Given the description of an element on the screen output the (x, y) to click on. 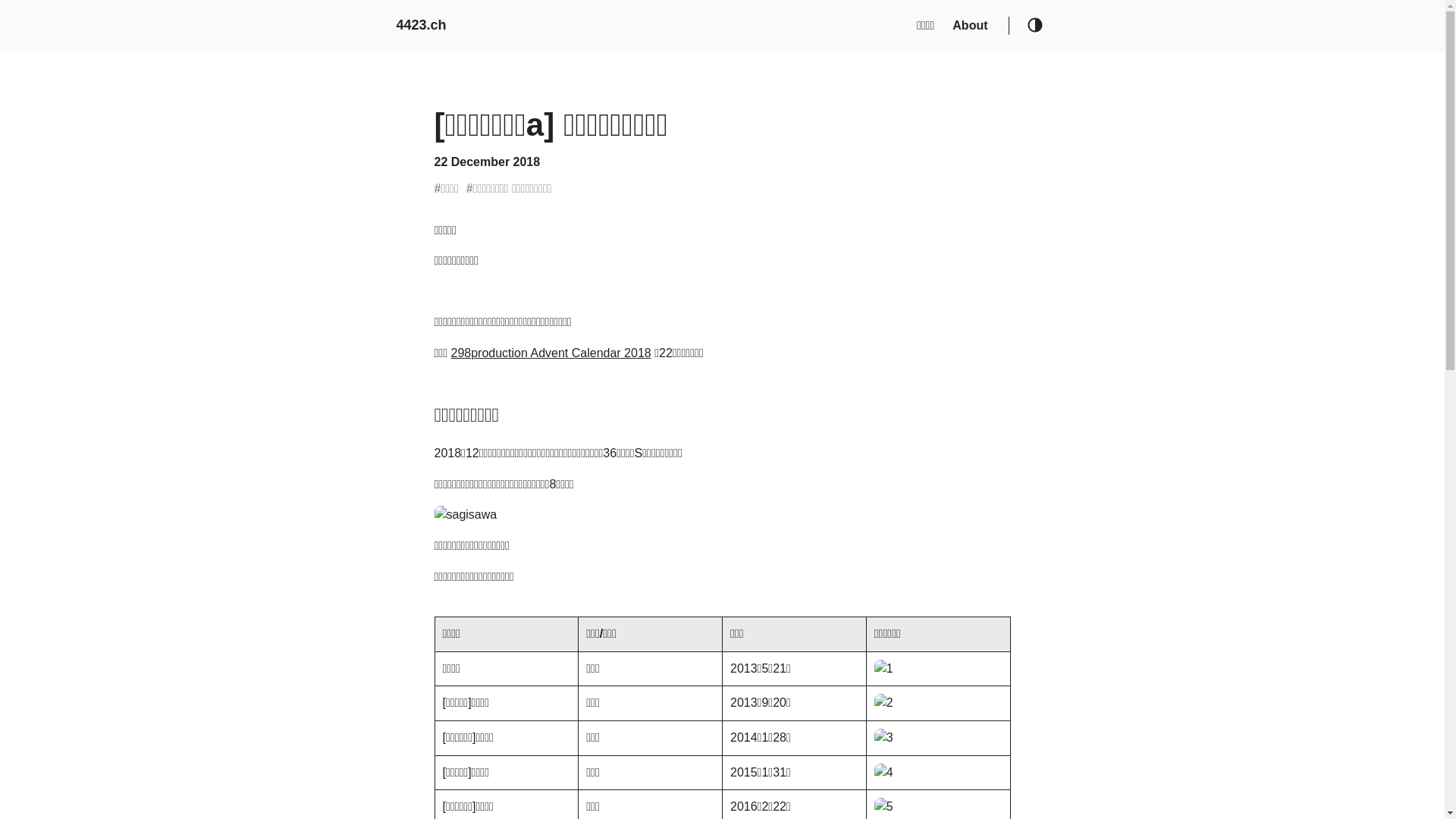
298production Advent Calendar 2018 Element type: text (550, 352)
About Element type: text (969, 25)
4423.ch Element type: text (420, 25)
